Given the description of an element on the screen output the (x, y) to click on. 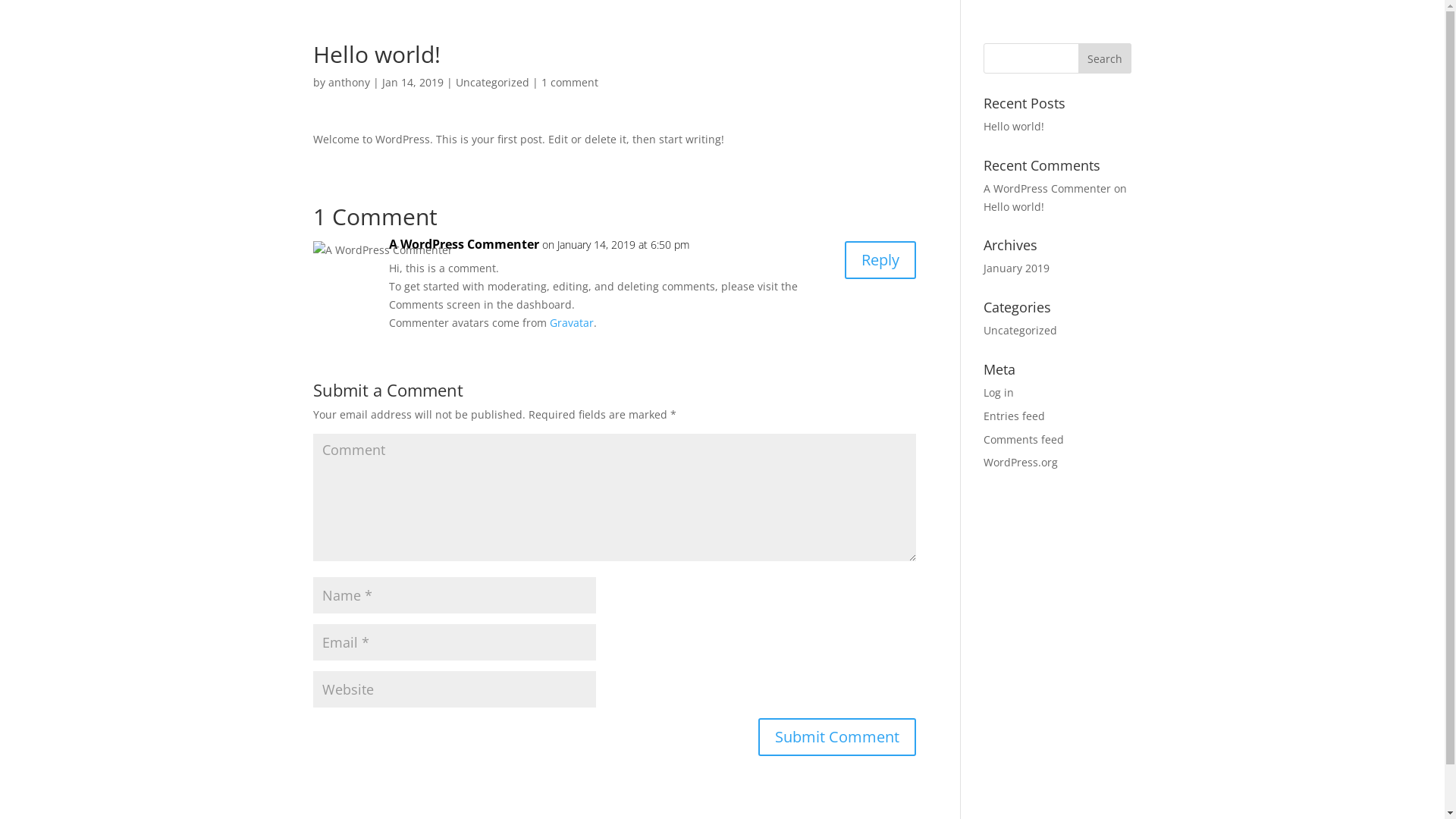
January 2019 Element type: text (1016, 267)
Comments feed Element type: text (1023, 439)
Reply Element type: text (880, 260)
Log in Element type: text (998, 392)
anthony Element type: text (348, 82)
A WordPress Commenter Element type: text (1046, 188)
1 comment Element type: text (569, 82)
Uncategorized Element type: text (1020, 330)
A WordPress Commenter Element type: text (463, 244)
WordPress.org Element type: text (1020, 462)
Uncategorized Element type: text (491, 82)
Submit Comment Element type: text (837, 737)
Gravatar Element type: text (571, 322)
Entries feed Element type: text (1013, 415)
Search Element type: text (1104, 58)
Hello world! Element type: text (1013, 206)
Hello world! Element type: text (1013, 126)
